Given the description of an element on the screen output the (x, y) to click on. 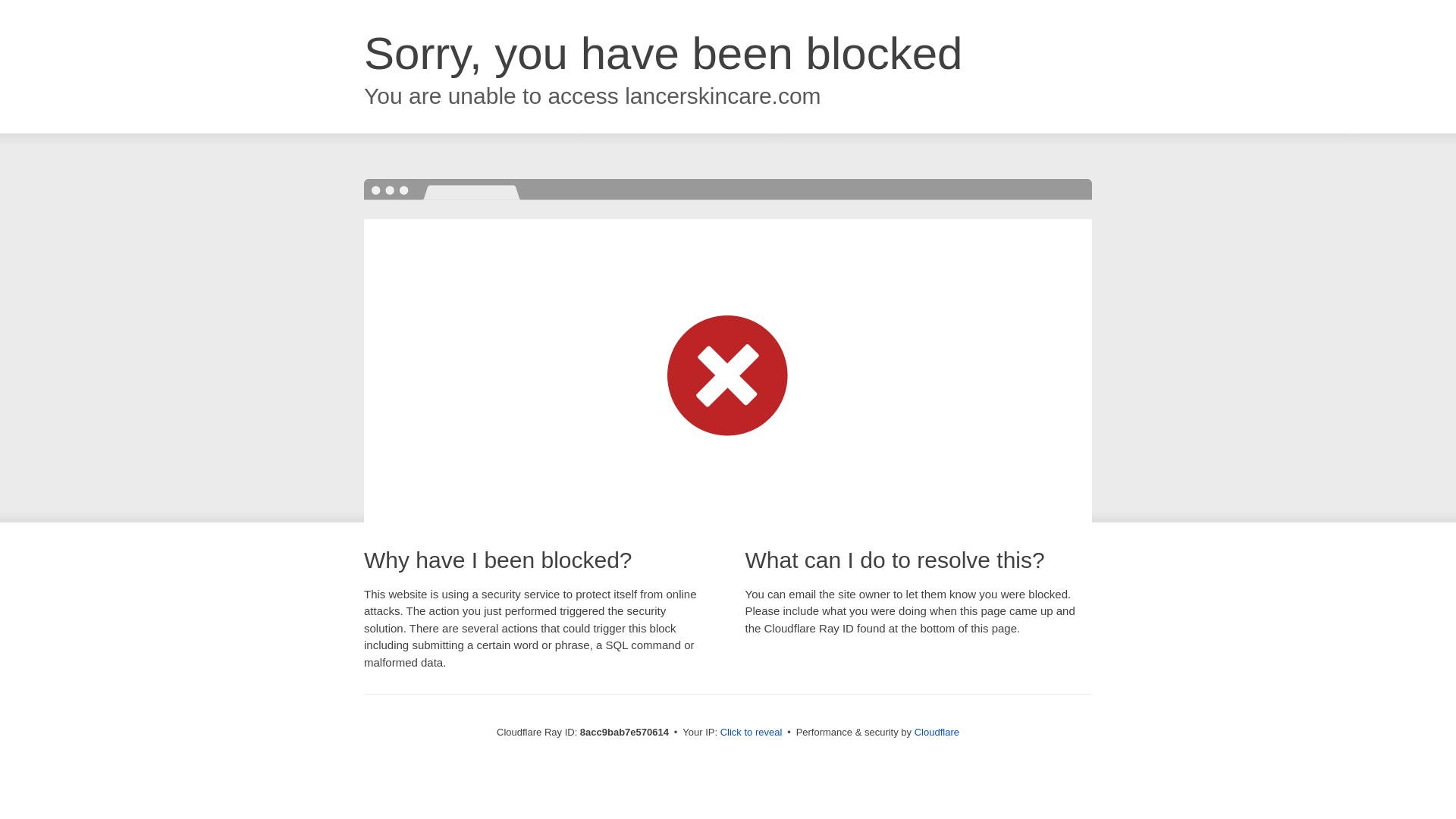
Click to reveal (751, 732)
Cloudflare (936, 731)
